Given the description of an element on the screen output the (x, y) to click on. 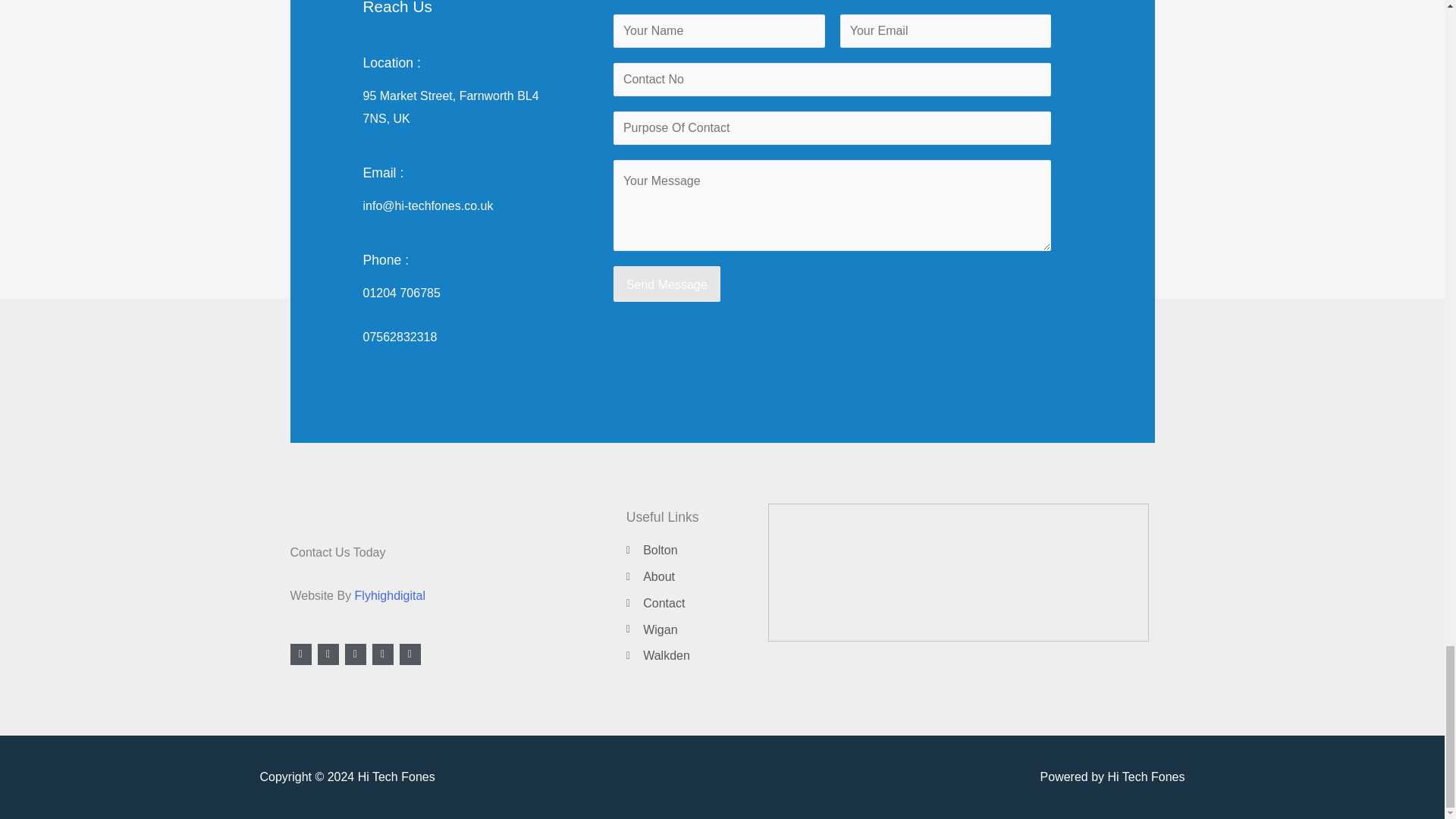
Send Message (666, 284)
hitech fones (958, 572)
